Given the description of an element on the screen output the (x, y) to click on. 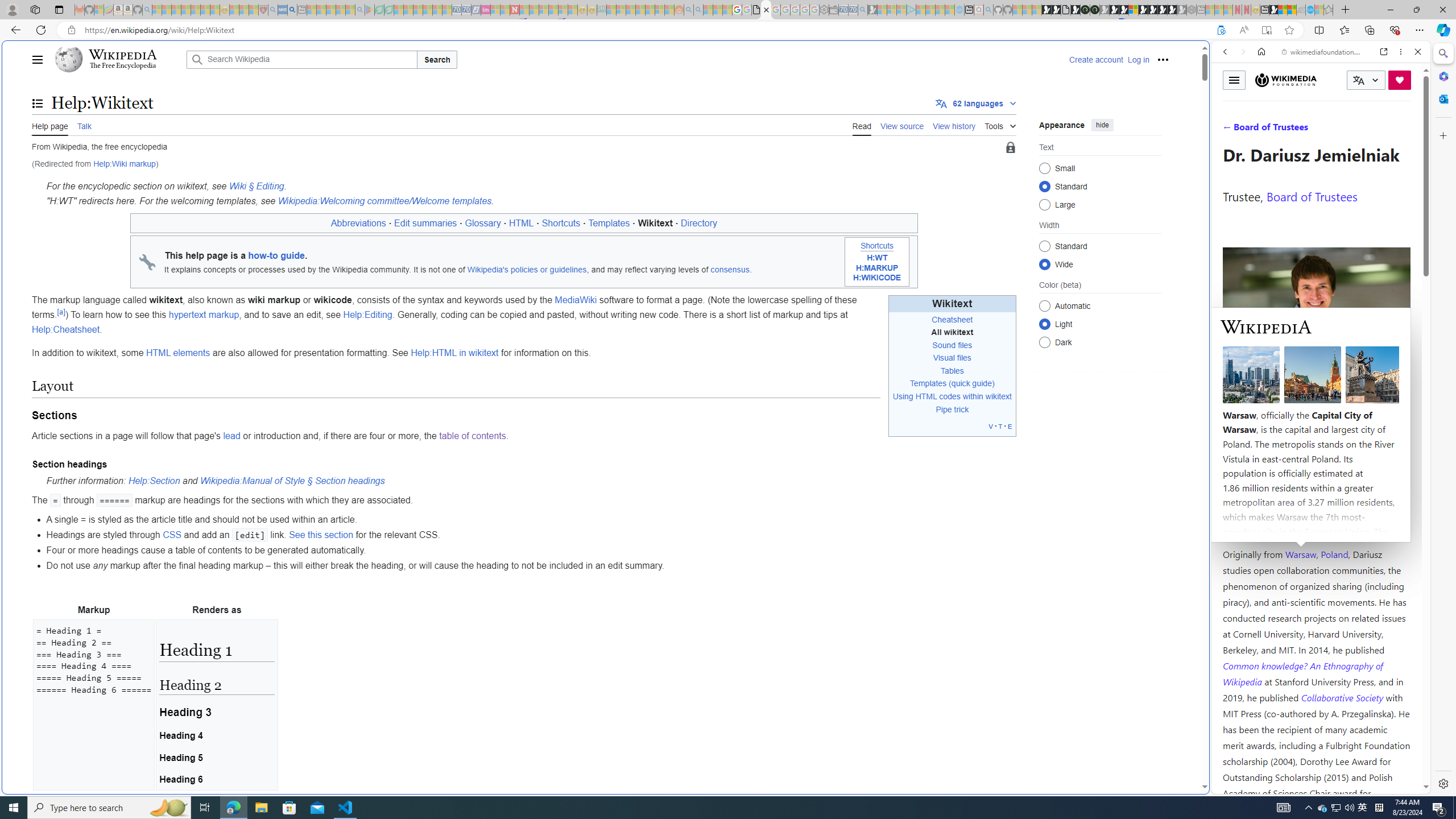
utah sues federal government - Search (291, 9)
Heading 1 Heading 2 Heading 3 Heading 4 Heading 5 Heading 6 (216, 704)
Earth has six continents not seven, radical new study claims (1291, 9)
